Given the description of an element on the screen output the (x, y) to click on. 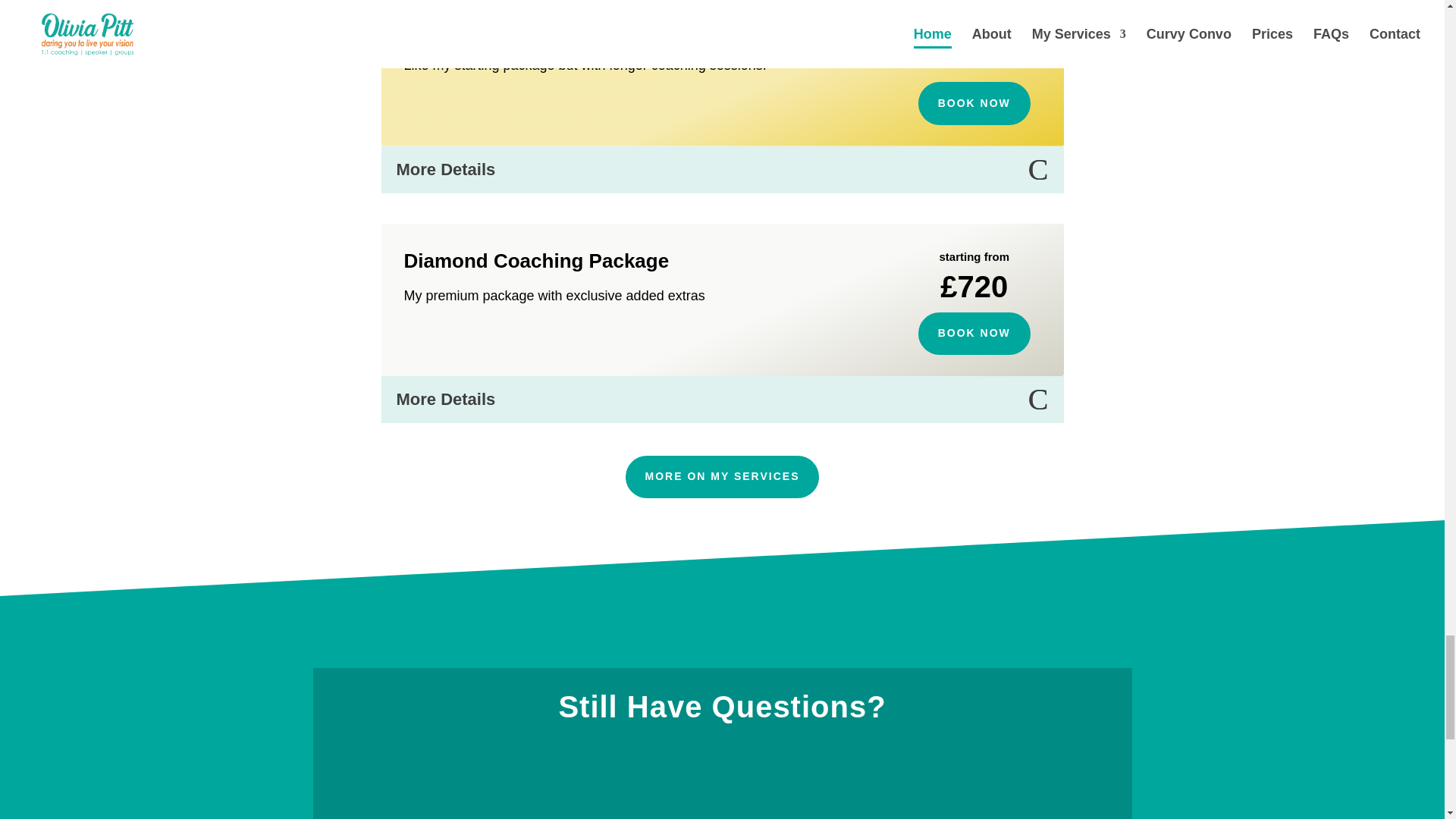
BOOK NOW (974, 333)
BOOK NOW (974, 102)
MORE ON MY SERVICES (722, 476)
